Given the description of an element on the screen output the (x, y) to click on. 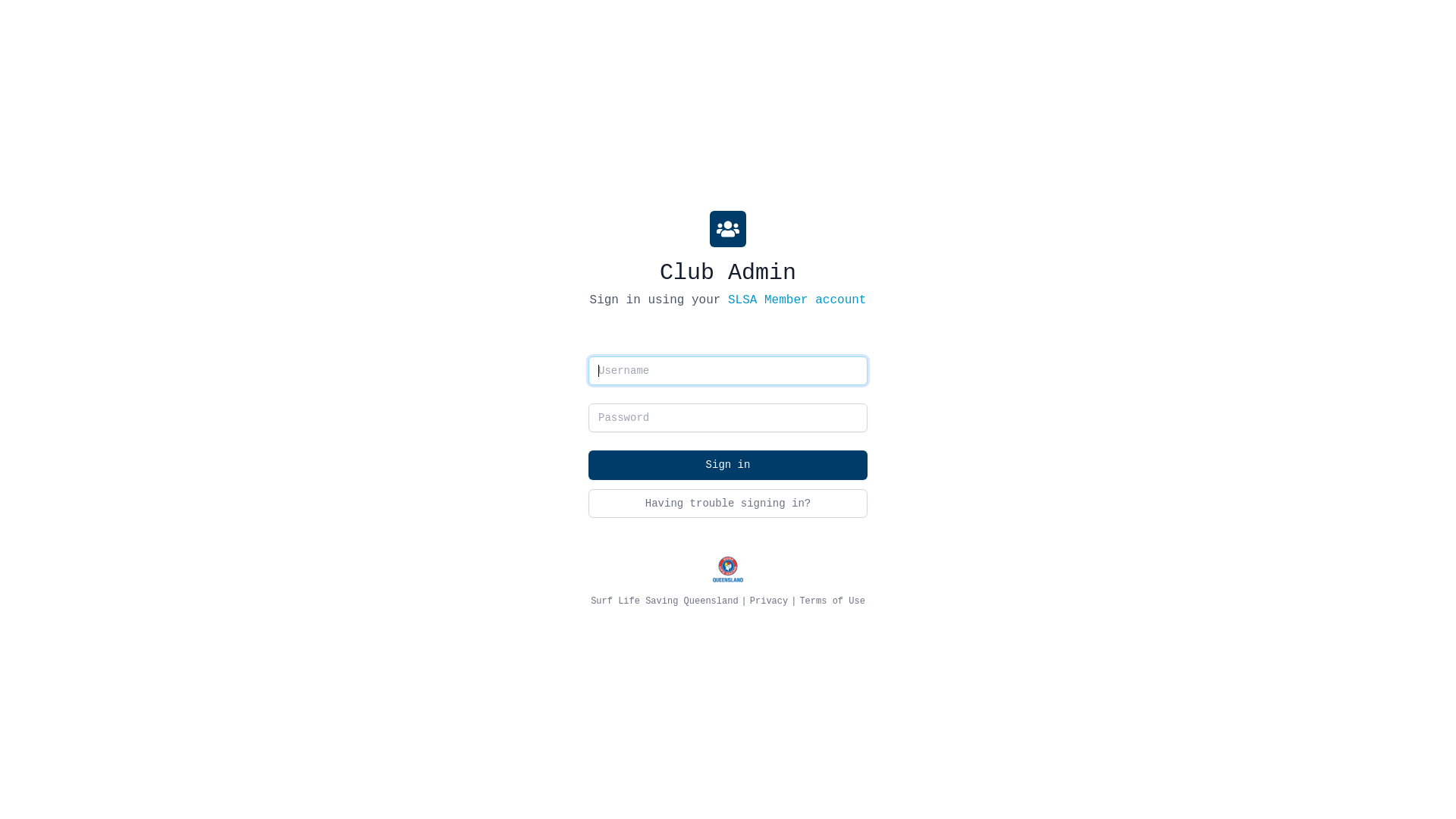
Privacy Element type: text (768, 601)
Having trouble signing in? Element type: text (727, 502)
Sign in Element type: text (727, 465)
Terms of Use Element type: text (831, 601)
SLSA Member account Element type: text (797, 299)
Surf Life Saving Queensland Element type: text (663, 601)
